Given the description of an element on the screen output the (x, y) to click on. 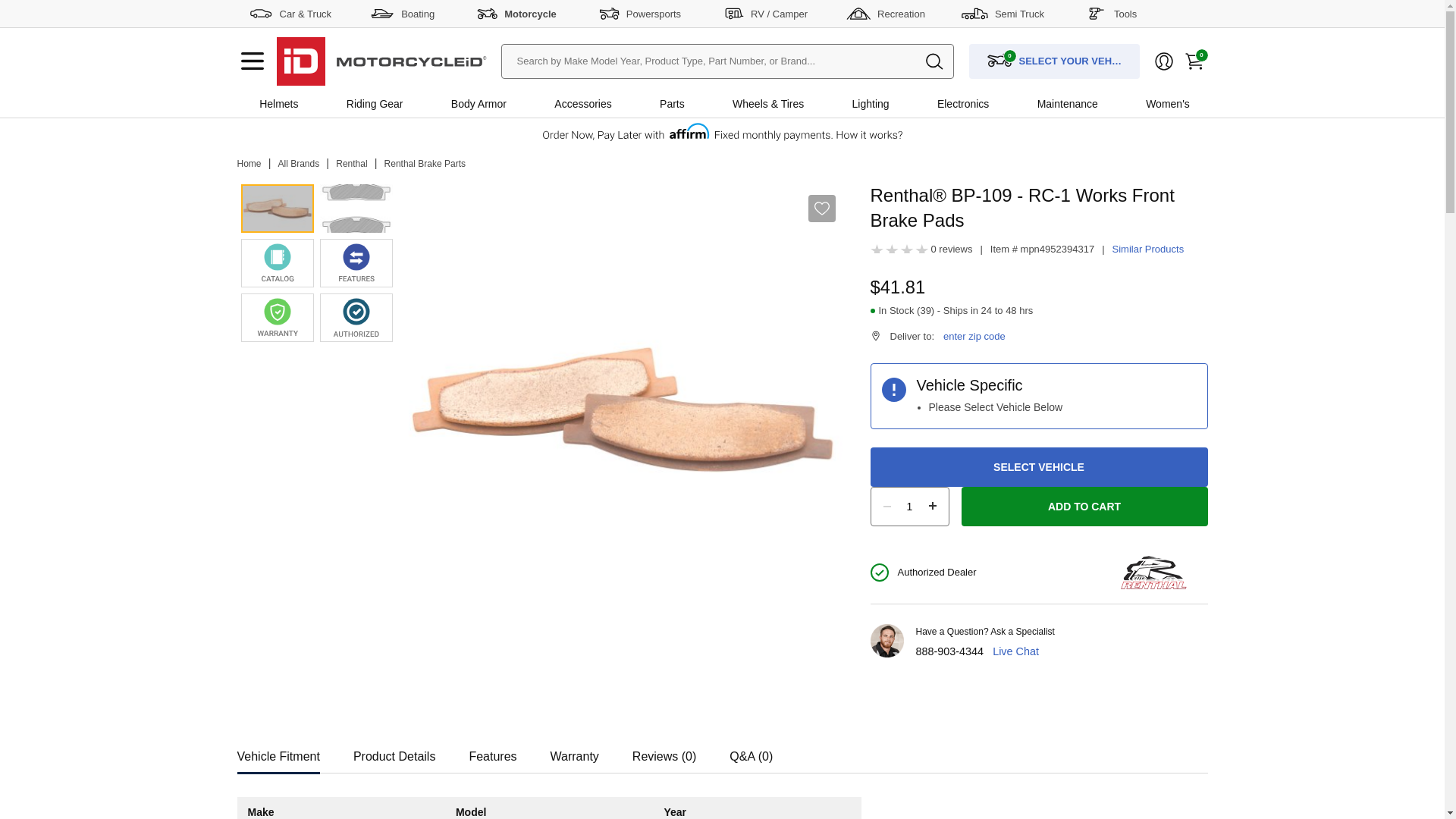
Product Details (394, 751)
888-903-4344 (949, 651)
Lighting (870, 103)
Tools (1111, 13)
0 (1192, 61)
Accessories (582, 103)
SELECT VEHICLE (1039, 466)
Warranty (574, 751)
Renthal Brake Parts (424, 163)
Warranty (574, 751)
Vehicle Fitment (276, 751)
Renthal Authorized Dealer (356, 317)
Parts (672, 103)
All Brands (299, 163)
Features (492, 751)
